Given the description of an element on the screen output the (x, y) to click on. 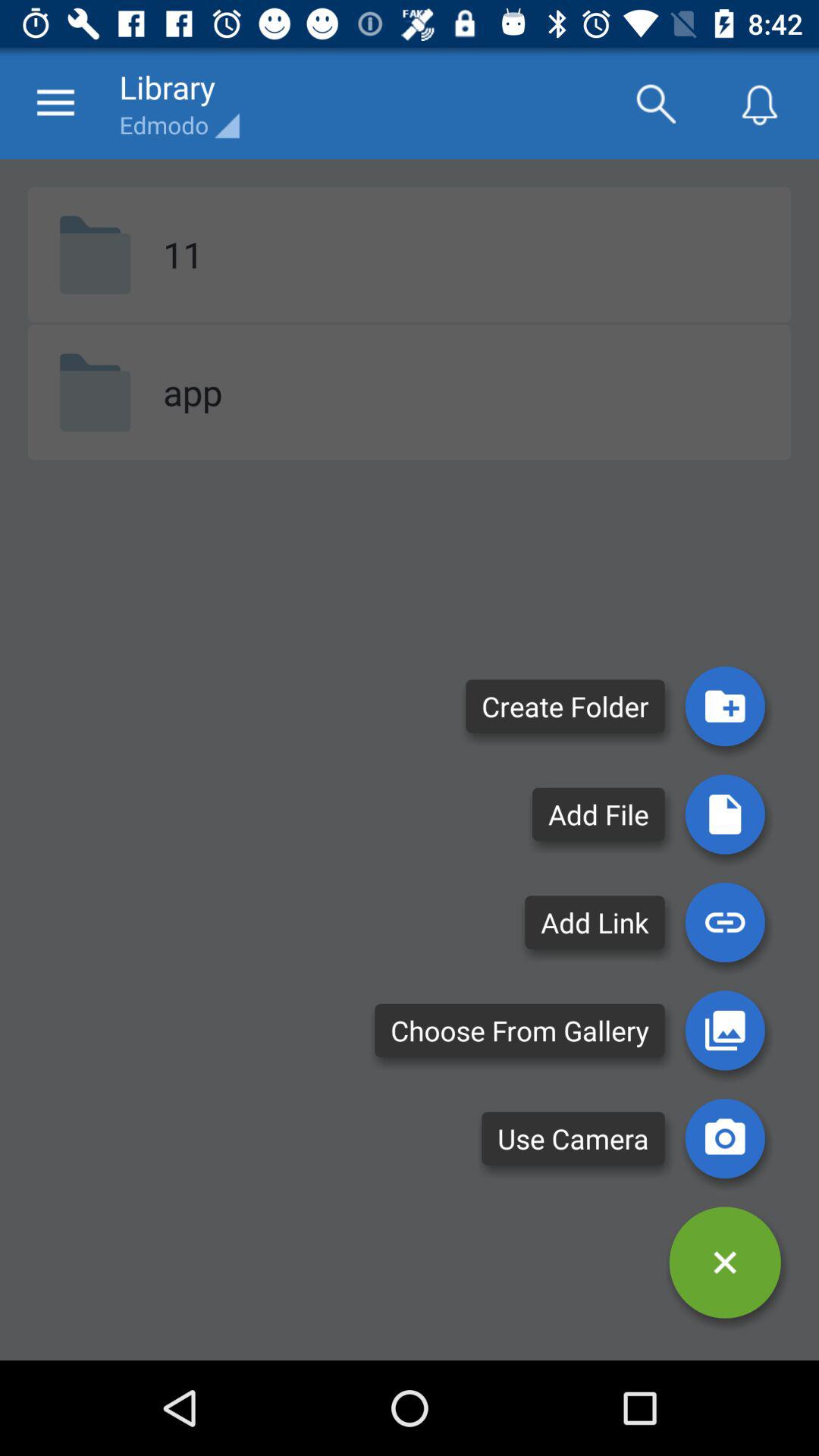
swipe until the 11 (183, 254)
